Given the description of an element on the screen output the (x, y) to click on. 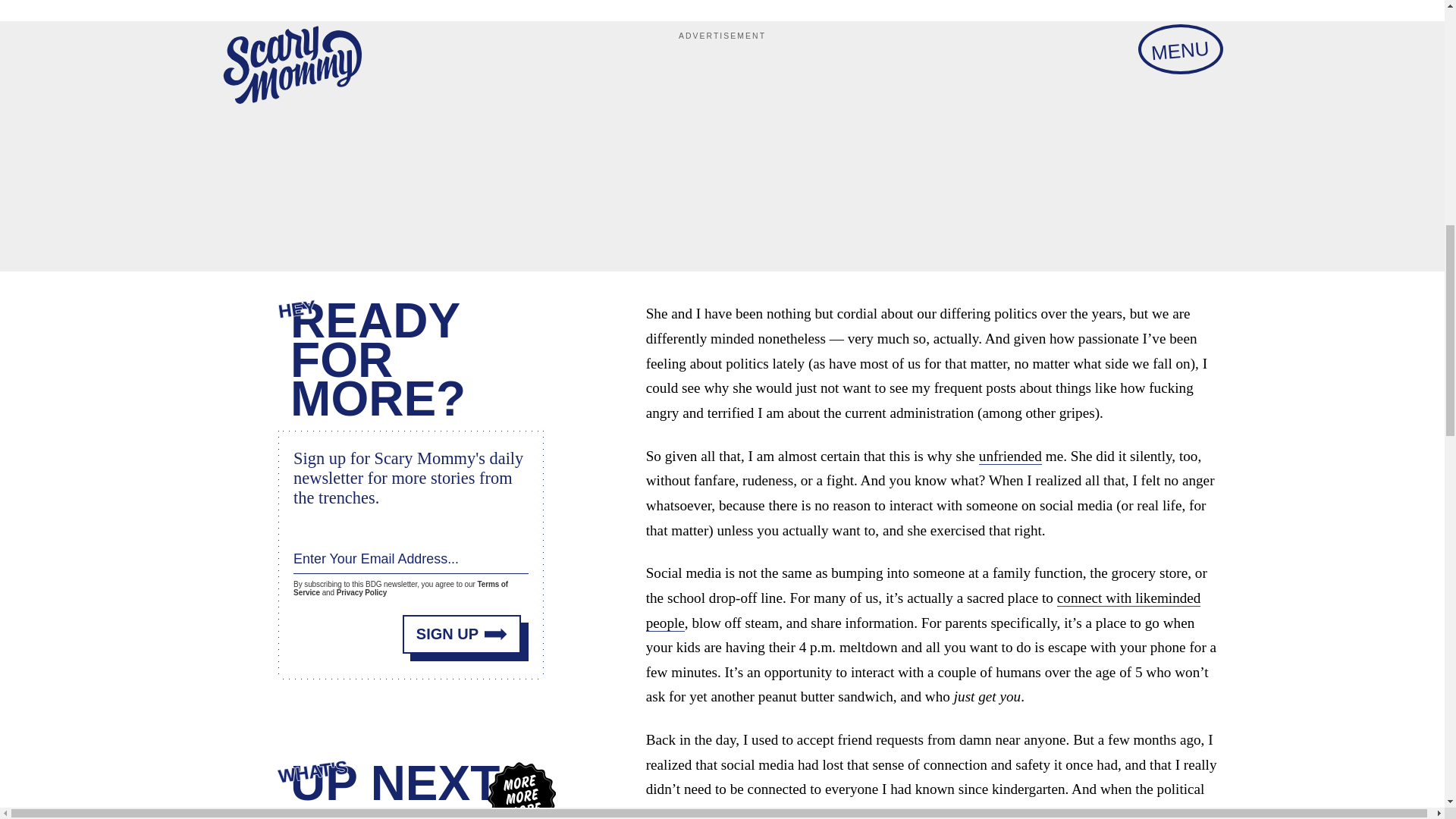
connect with likeminded people (923, 610)
Privacy Policy (361, 590)
unfriended (1010, 456)
Terms of Service (401, 586)
SIGN UP (462, 629)
